Given the description of an element on the screen output the (x, y) to click on. 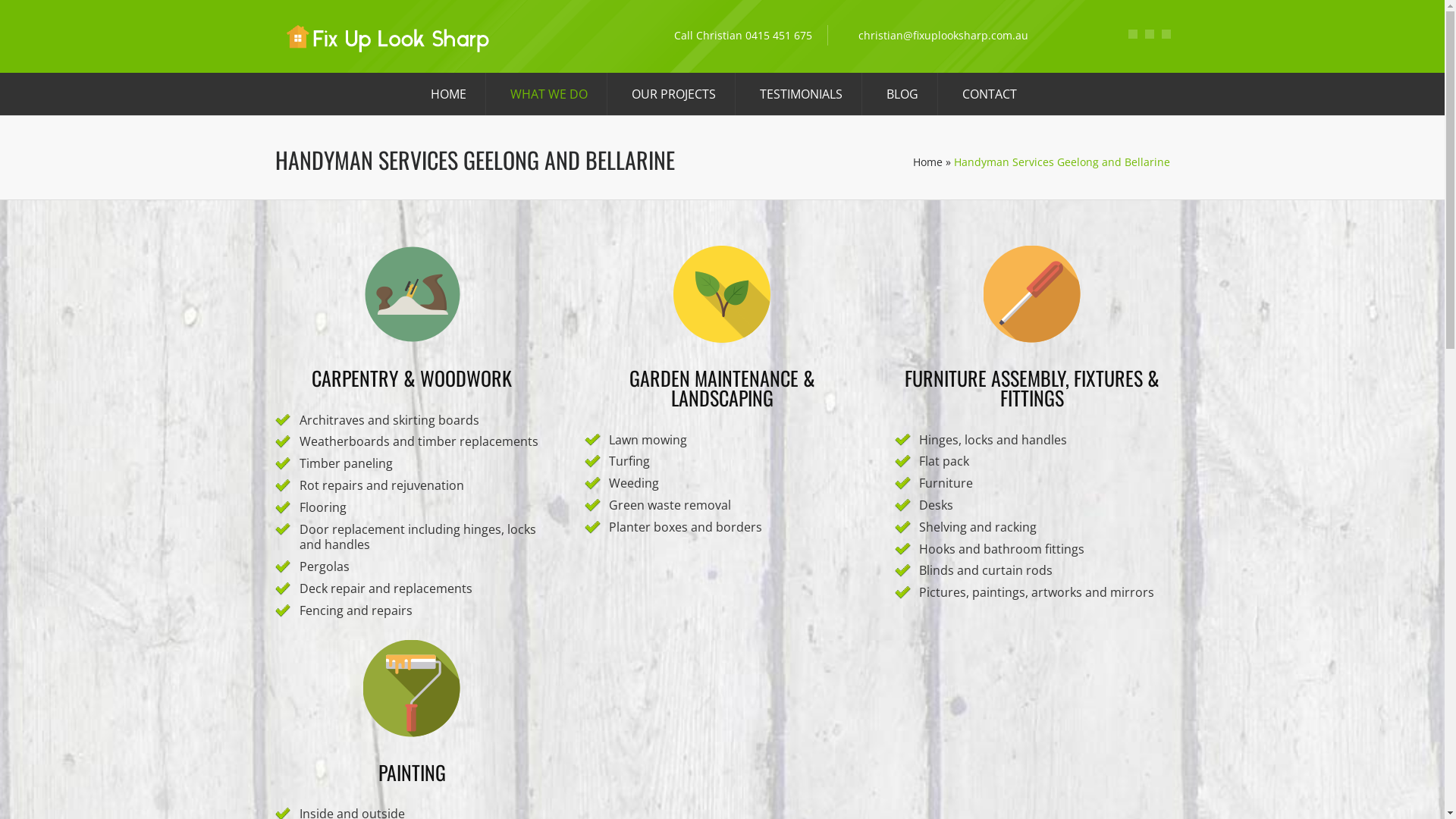
CONTACT Element type: text (985, 94)
BLOG Element type: text (898, 94)
TESTIMONIALS Element type: text (797, 94)
Home Element type: text (927, 161)
HOME Element type: text (445, 94)
OUR PROJECTS Element type: text (669, 94)
WHAT WE DO Element type: text (544, 94)
